Given the description of an element on the screen output the (x, y) to click on. 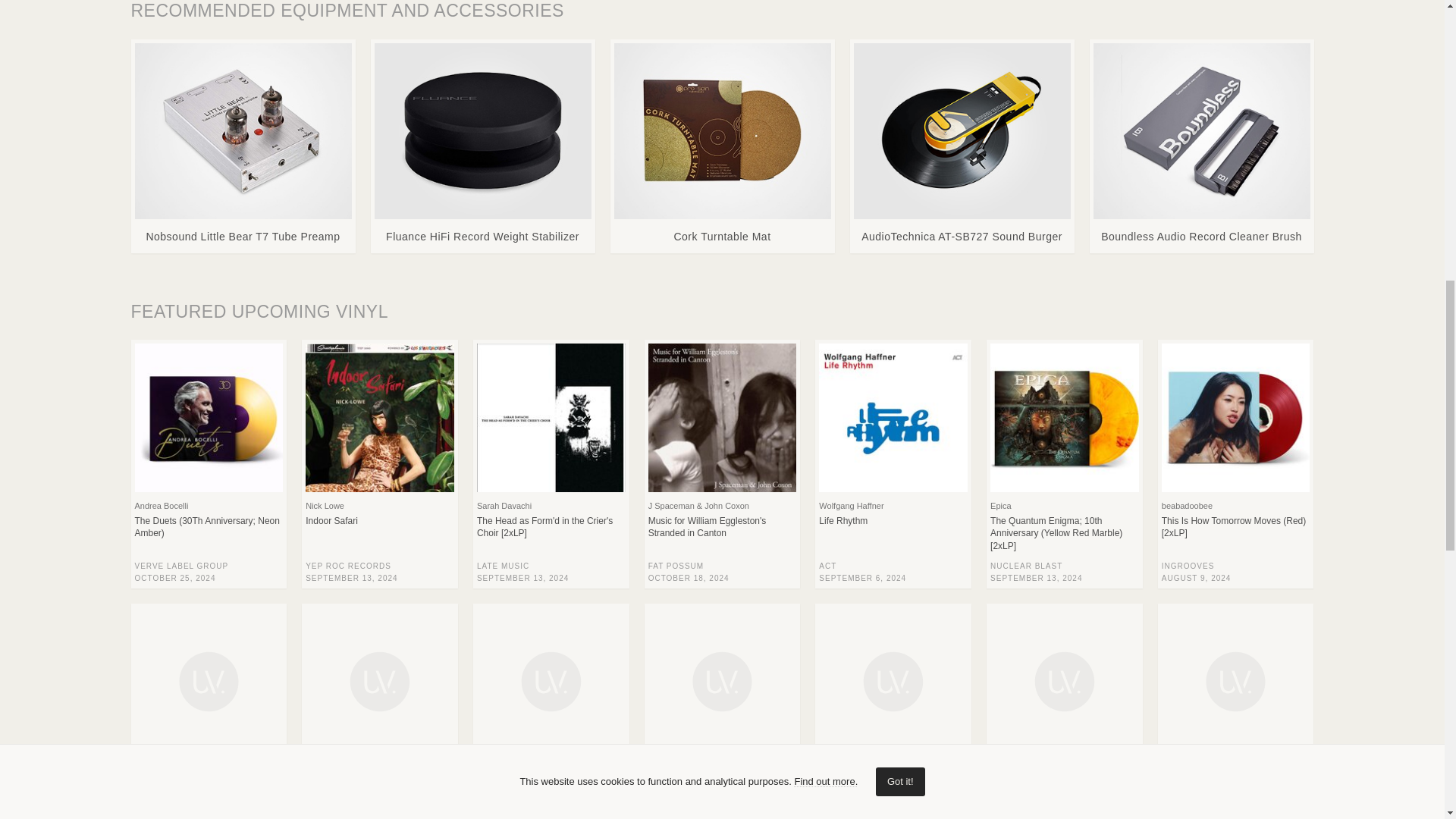
Fluance HiFi Record Weight Stabilizer (482, 146)
Cork Turntable Mat (722, 146)
Nobsound Little Bear T7 Tube Preamp (243, 146)
